Given the description of an element on the screen output the (x, y) to click on. 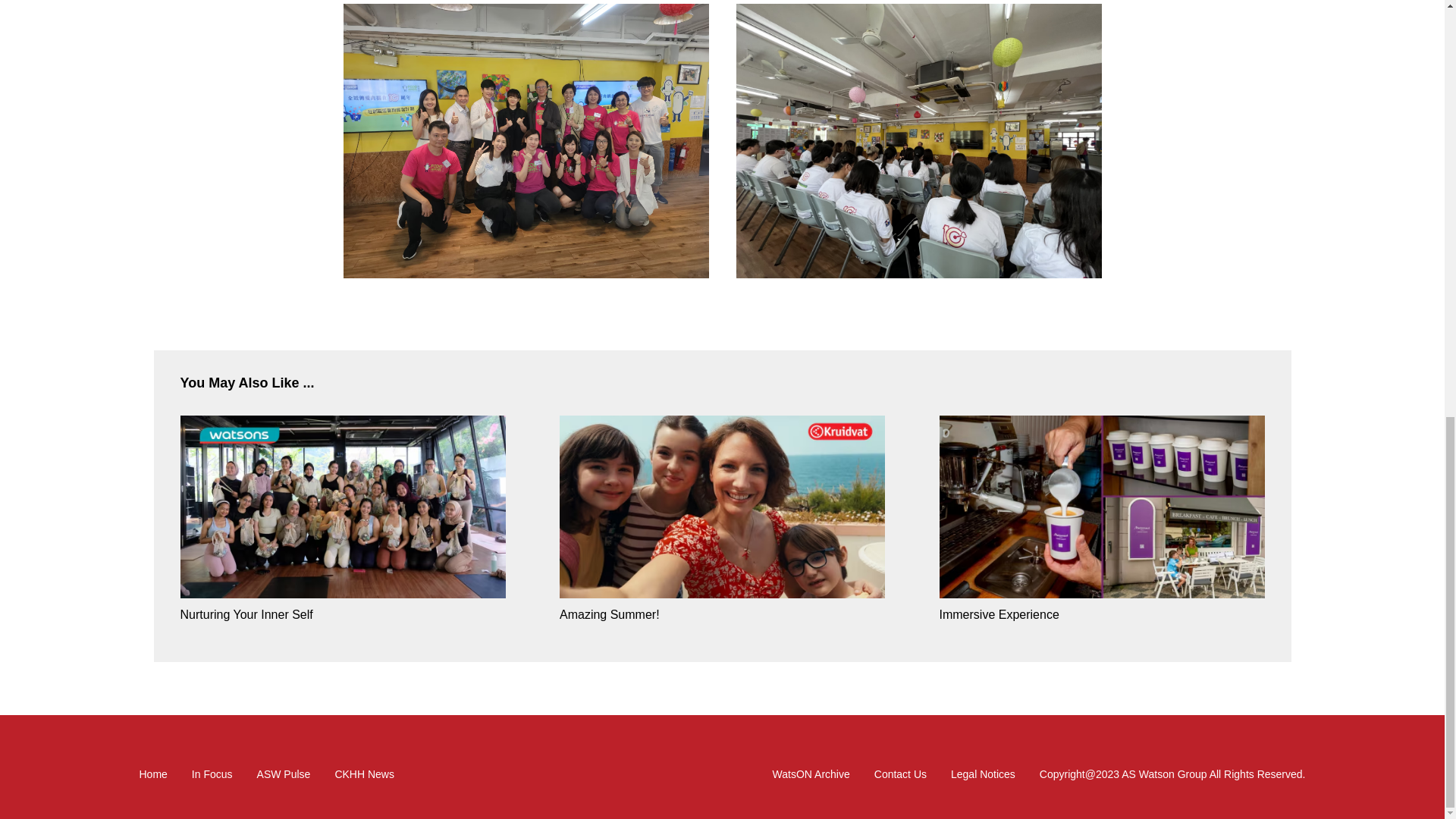
Immersive Experience (1101, 615)
Amazing Summer! (722, 508)
Nurturing Your Inner Self (342, 508)
Amazing Summer! (722, 615)
Nurturing Your Inner Self (342, 615)
Immersive Experience (1101, 508)
